Given the description of an element on the screen output the (x, y) to click on. 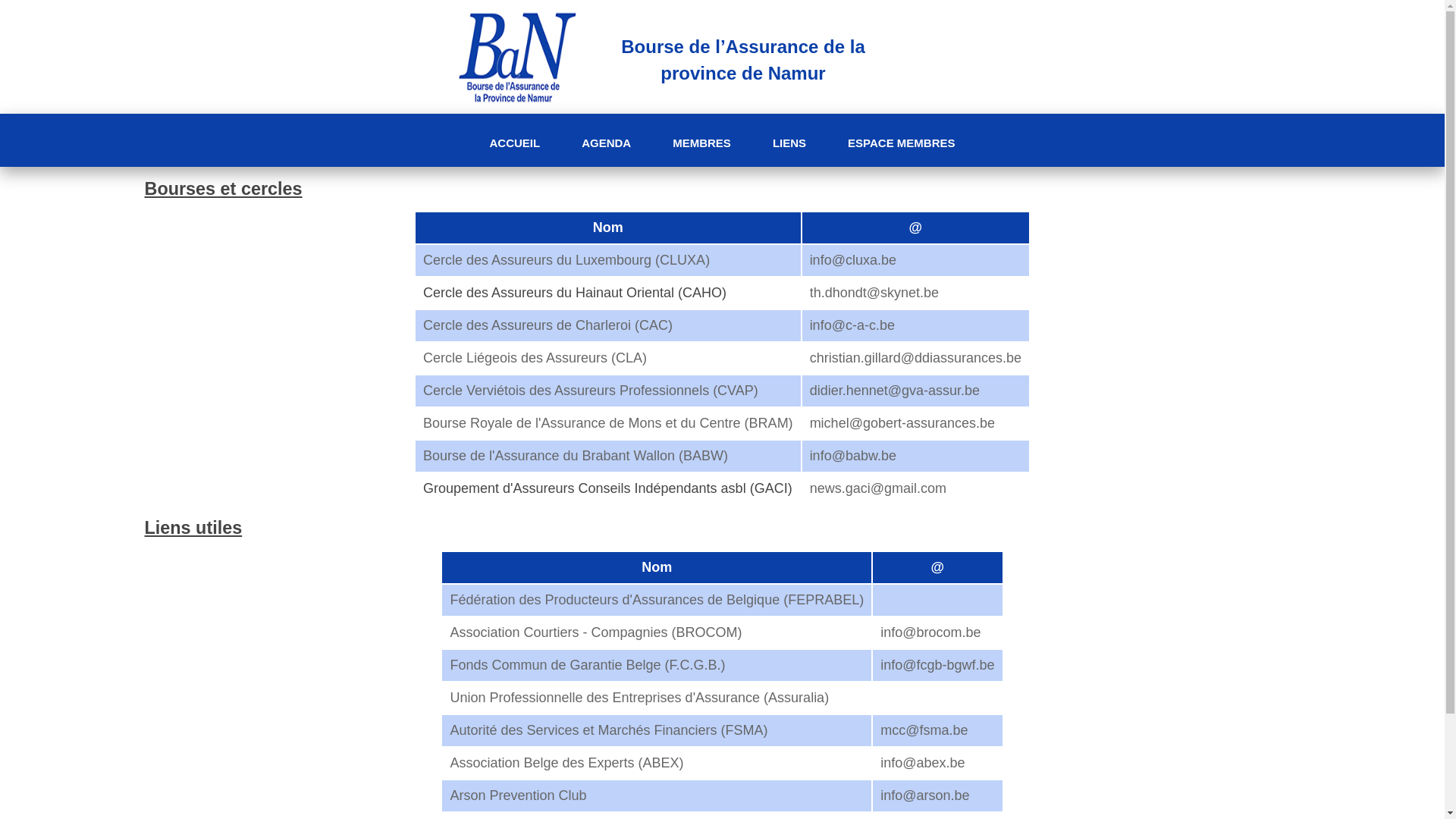
Cercle des Assureurs du Luxembourg (CLUXA) Element type: text (566, 259)
th.dhondt@skynet.be Element type: text (873, 292)
Bourse de l'Assurance du Brabant Wallon (BABW) Element type: text (575, 455)
Cercle des Assureurs de Charleroi (CAC) Element type: text (547, 324)
Fonds Commun de Garantie Belge (F.C.G.B.) Element type: text (586, 664)
Bourse Royale de l'Assurance de Mons et du Centre (BRAM) Element type: text (608, 422)
info@c-a-c.be Element type: text (851, 324)
info@arson.be Element type: text (924, 795)
Association Belge des Experts (ABEX) Element type: text (566, 762)
info@abex.be Element type: text (922, 762)
christian.gillard@ddiassurances.be Element type: text (915, 357)
AGENDA Element type: text (605, 142)
news.gaci@gmail.com Element type: text (877, 487)
ESPACE MEMBRES Element type: text (900, 142)
info@cluxa.be Element type: text (852, 259)
info@fcgb-bgwf.be Element type: text (937, 664)
info@babw.be Element type: text (852, 455)
michel@gobert-assurances.be Element type: text (901, 422)
ACCUEIL Element type: text (514, 142)
info@brocom.be Element type: text (930, 632)
Arson Prevention Club Element type: text (517, 795)
MEMBRES Element type: text (701, 142)
LIENS Element type: text (789, 142)
mcc@fsma.be Element type: text (923, 729)
Association Courtiers - Compagnies (BROCOM) Element type: text (595, 632)
didier.hennet@gva-assur.be Element type: text (894, 390)
